Given the description of an element on the screen output the (x, y) to click on. 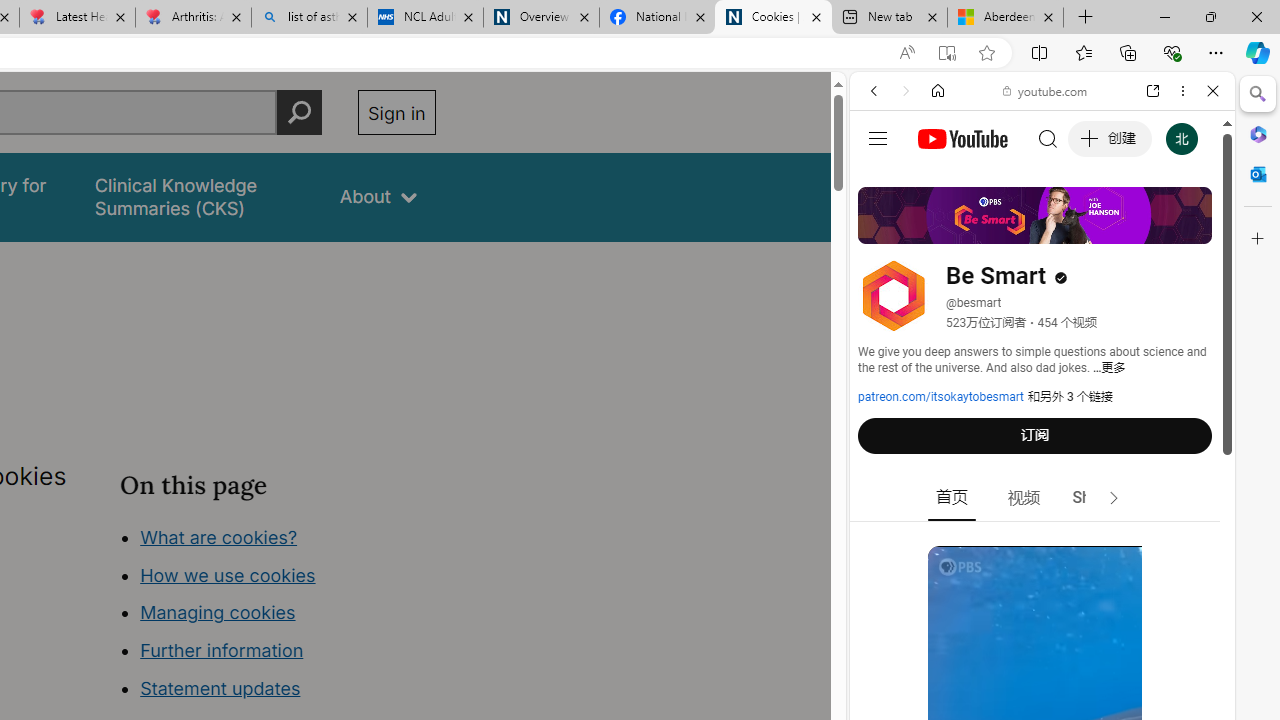
AutomationID: right (1113, 497)
Search videos from youtube.com (1005, 657)
Search Filter, VIDEOS (1006, 228)
Search Filter, IMAGES (939, 228)
Google (1042, 494)
list of asthma inhalers uk - Search (309, 17)
